Given the description of an element on the screen output the (x, y) to click on. 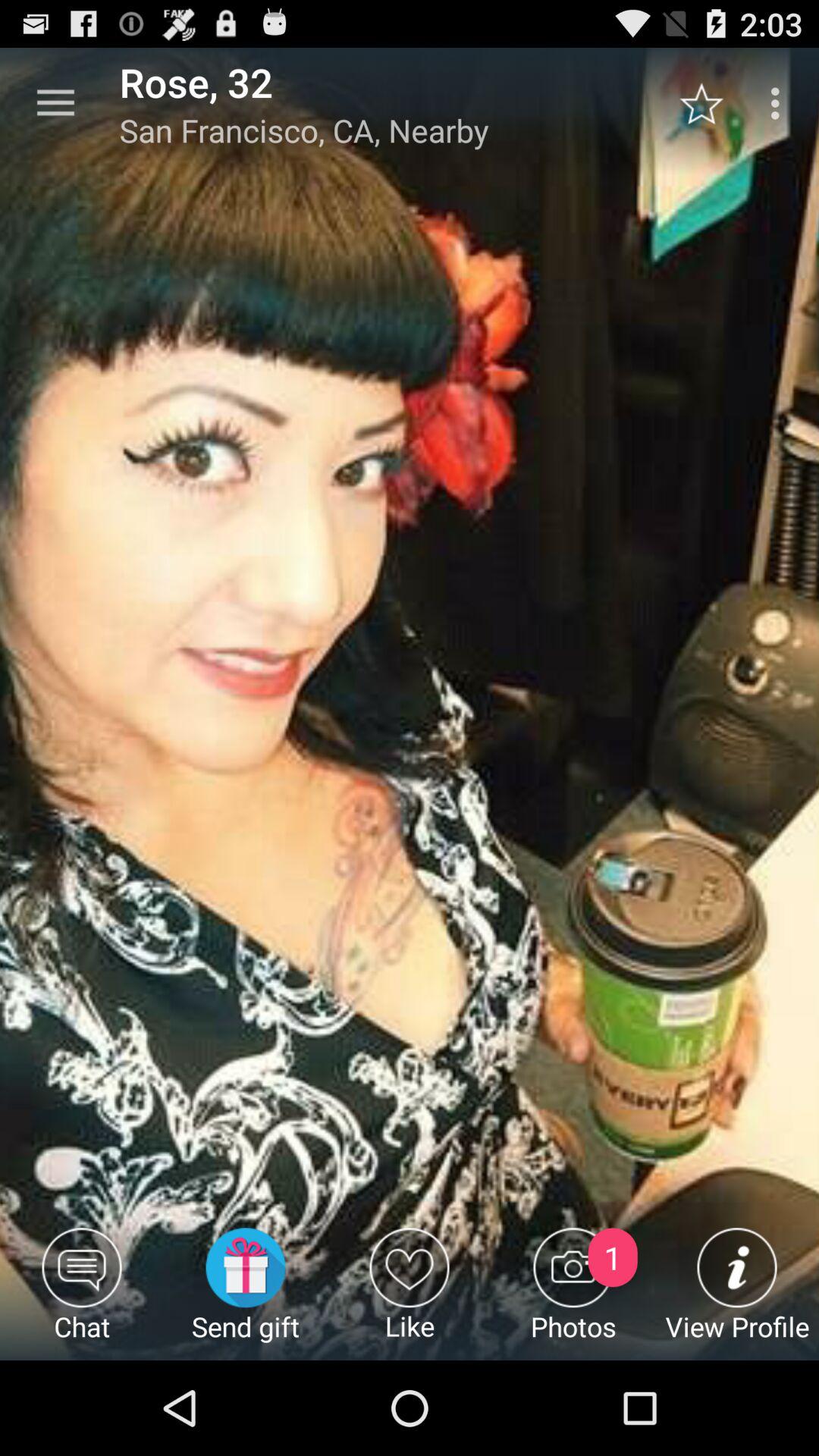
click the icon to the left of the photos (409, 1293)
